Given the description of an element on the screen output the (x, y) to click on. 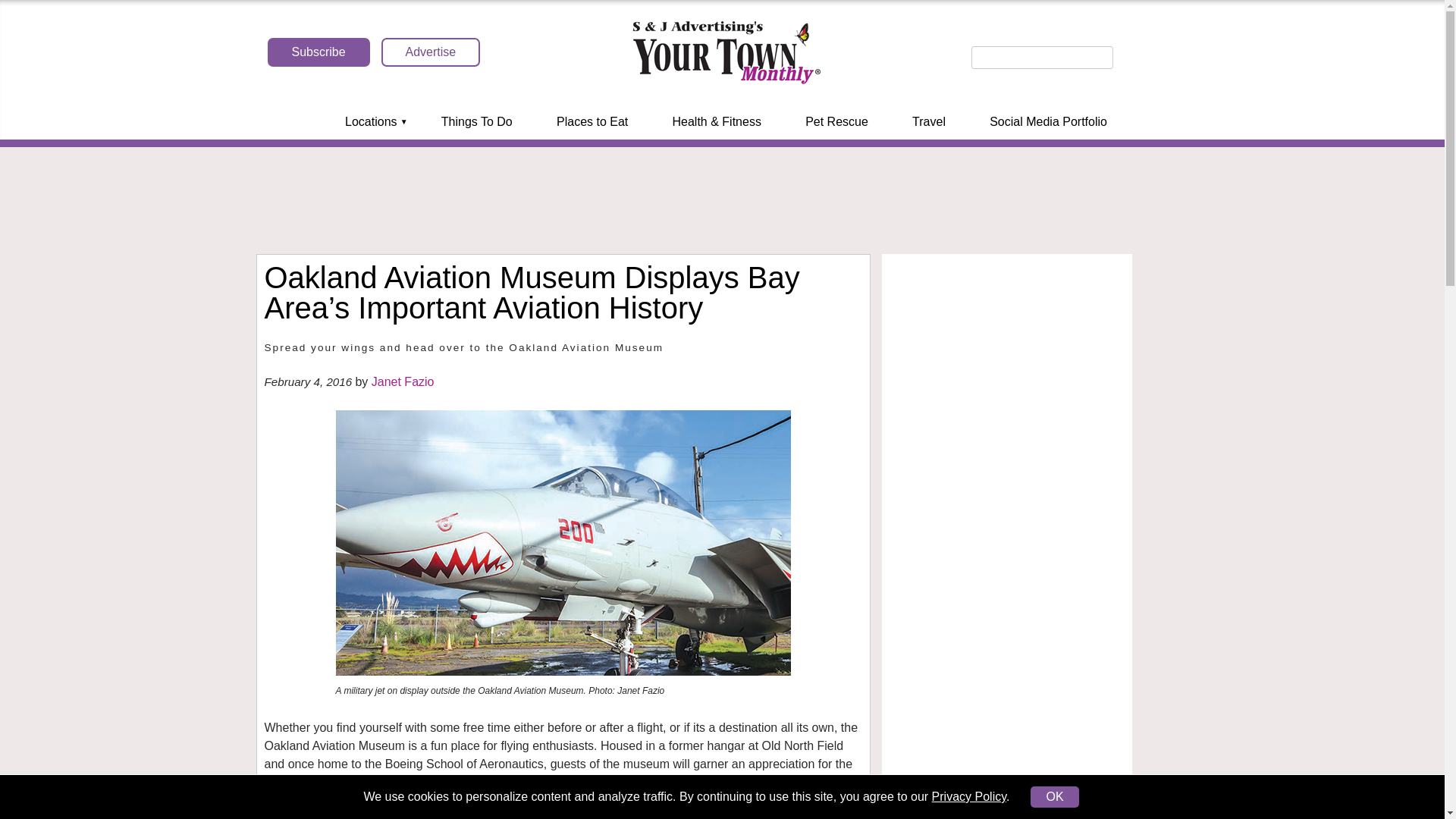
3rd party ad content (722, 200)
Your Town Monthly (725, 52)
